Given the description of an element on the screen output the (x, y) to click on. 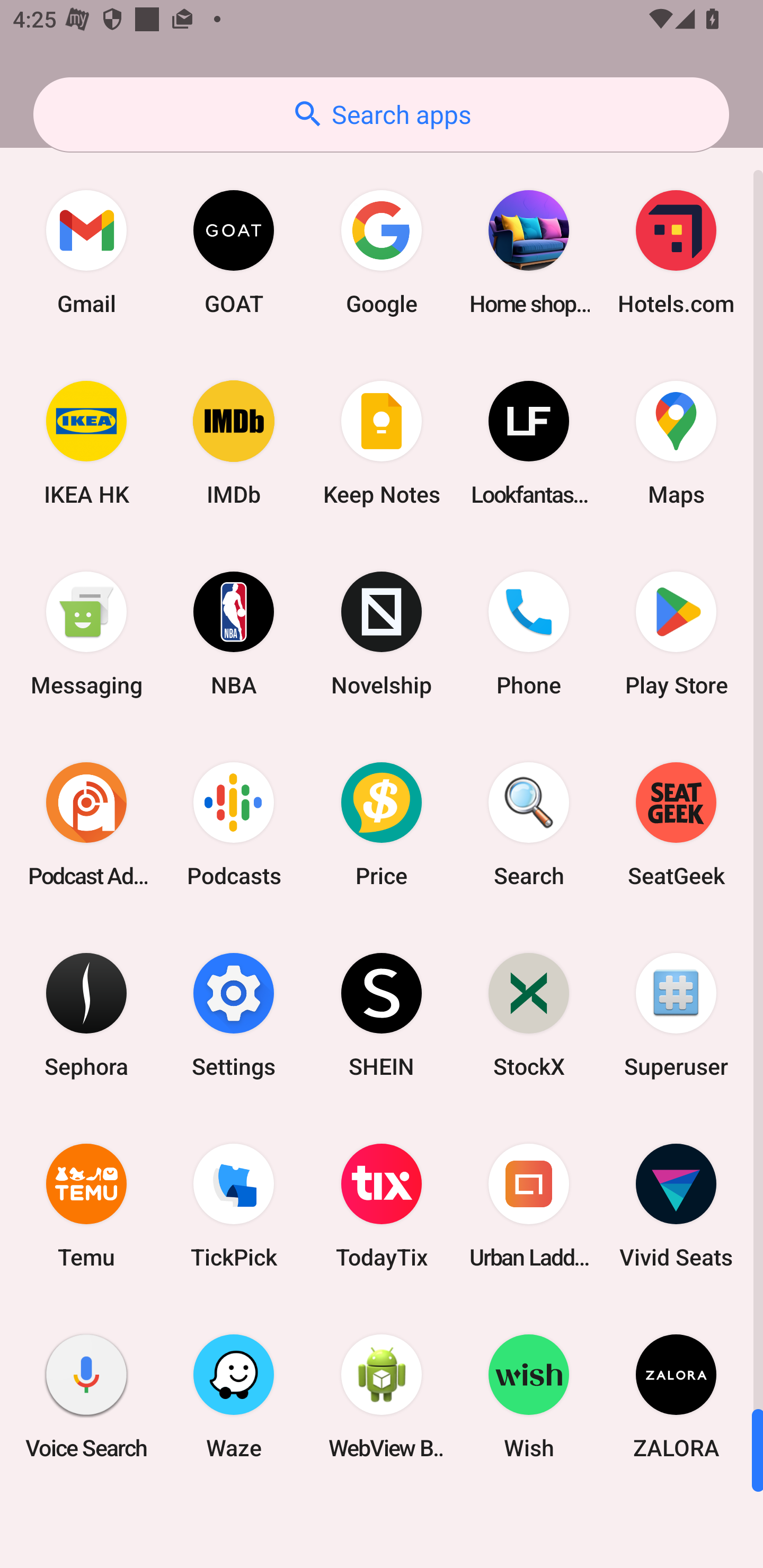
  Search apps (381, 114)
Gmail (86, 252)
GOAT (233, 252)
Google (381, 252)
Home shopping (528, 252)
Hotels.com (676, 252)
IKEA HK (86, 442)
IMDb (233, 442)
Keep Notes (381, 442)
Lookfantastic (528, 442)
Maps (676, 442)
Messaging (86, 633)
NBA (233, 633)
Novelship (381, 633)
Phone (528, 633)
Play Store (676, 633)
Podcast Addict (86, 823)
Podcasts (233, 823)
Price (381, 823)
Search (528, 823)
SeatGeek (676, 823)
Sephora (86, 1014)
Settings (233, 1014)
SHEIN (381, 1014)
StockX (528, 1014)
Superuser (676, 1014)
Temu (86, 1205)
TickPick (233, 1205)
TodayTix (381, 1205)
Urban Ladder (528, 1205)
Vivid Seats (676, 1205)
Voice Search (86, 1396)
Waze (233, 1396)
WebView Browser Tester (381, 1396)
Wish (528, 1396)
ZALORA (676, 1396)
